Given the description of an element on the screen output the (x, y) to click on. 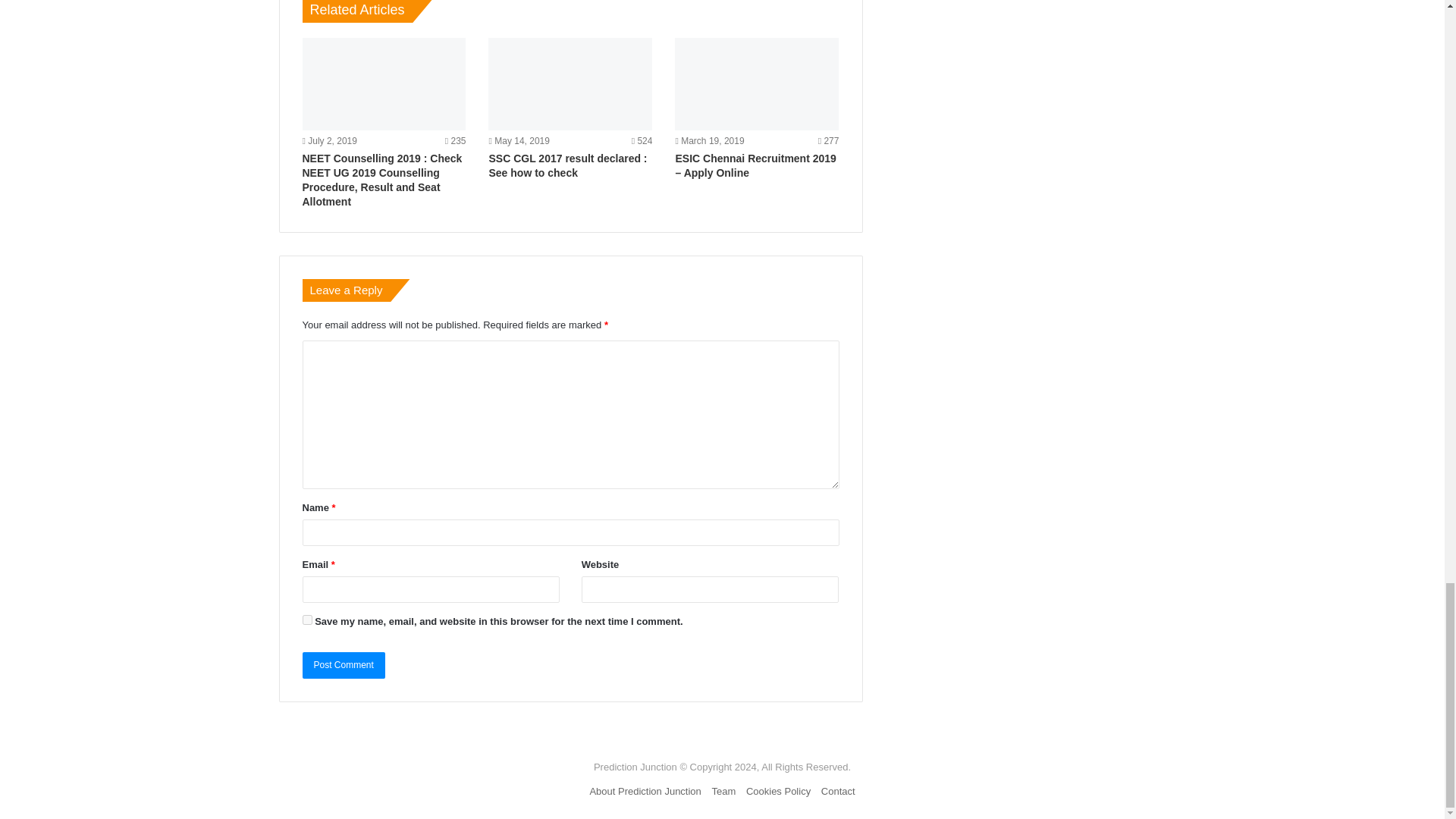
yes (306, 619)
SSC CGL 2017 result declared : See how to check (566, 165)
Post Comment (342, 664)
SSC CGL 2017 result declared  : See how to check (566, 165)
Post Comment (342, 664)
SSC CGL 2017 result declared  : See how to check (569, 83)
